Given the description of an element on the screen output the (x, y) to click on. 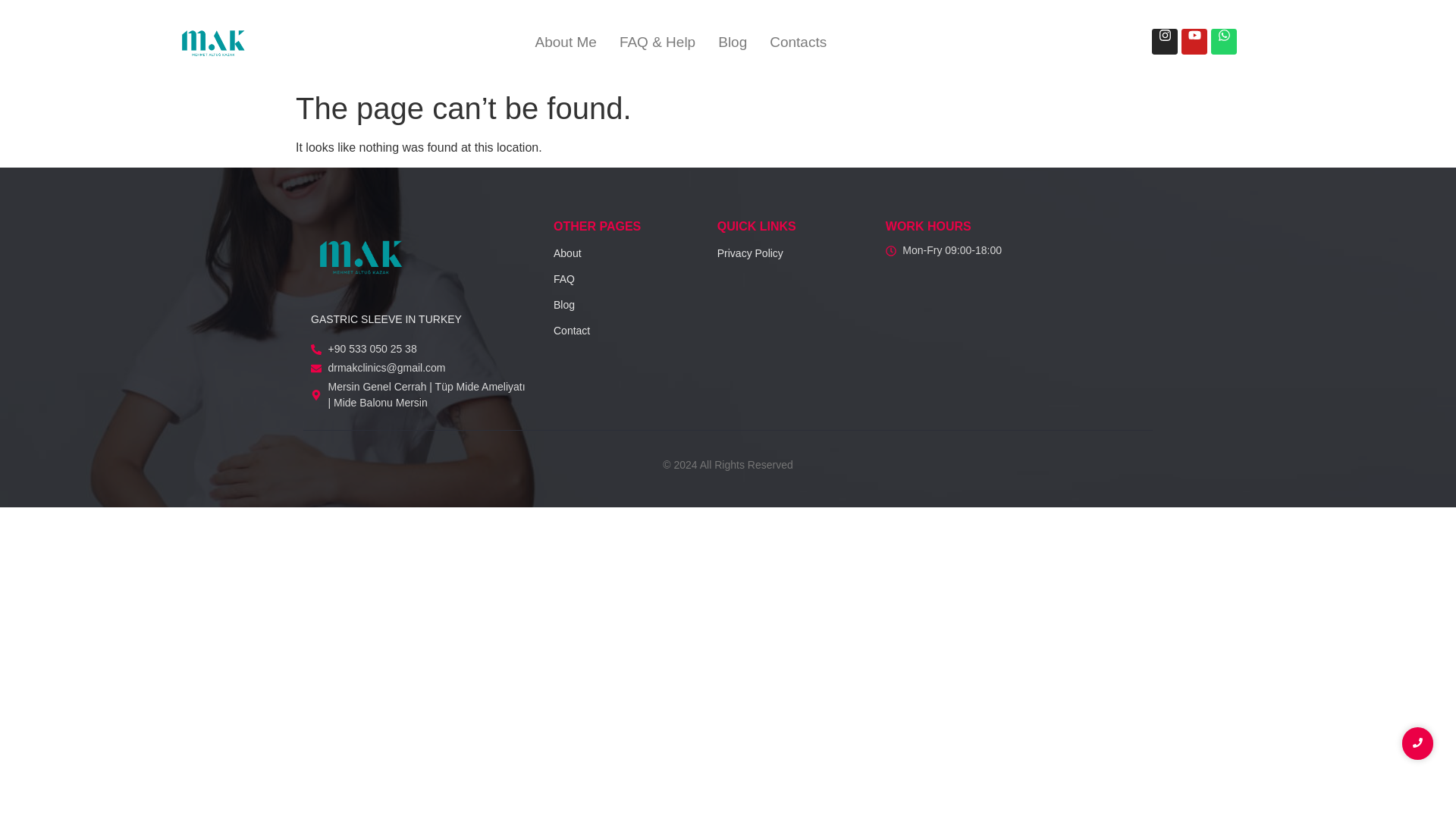
Contact (571, 330)
Blog (732, 41)
About (566, 253)
FAQ (564, 278)
Privacy Policy (750, 253)
Contacts (798, 41)
About Me (566, 41)
Blog (564, 304)
